Given the description of an element on the screen output the (x, y) to click on. 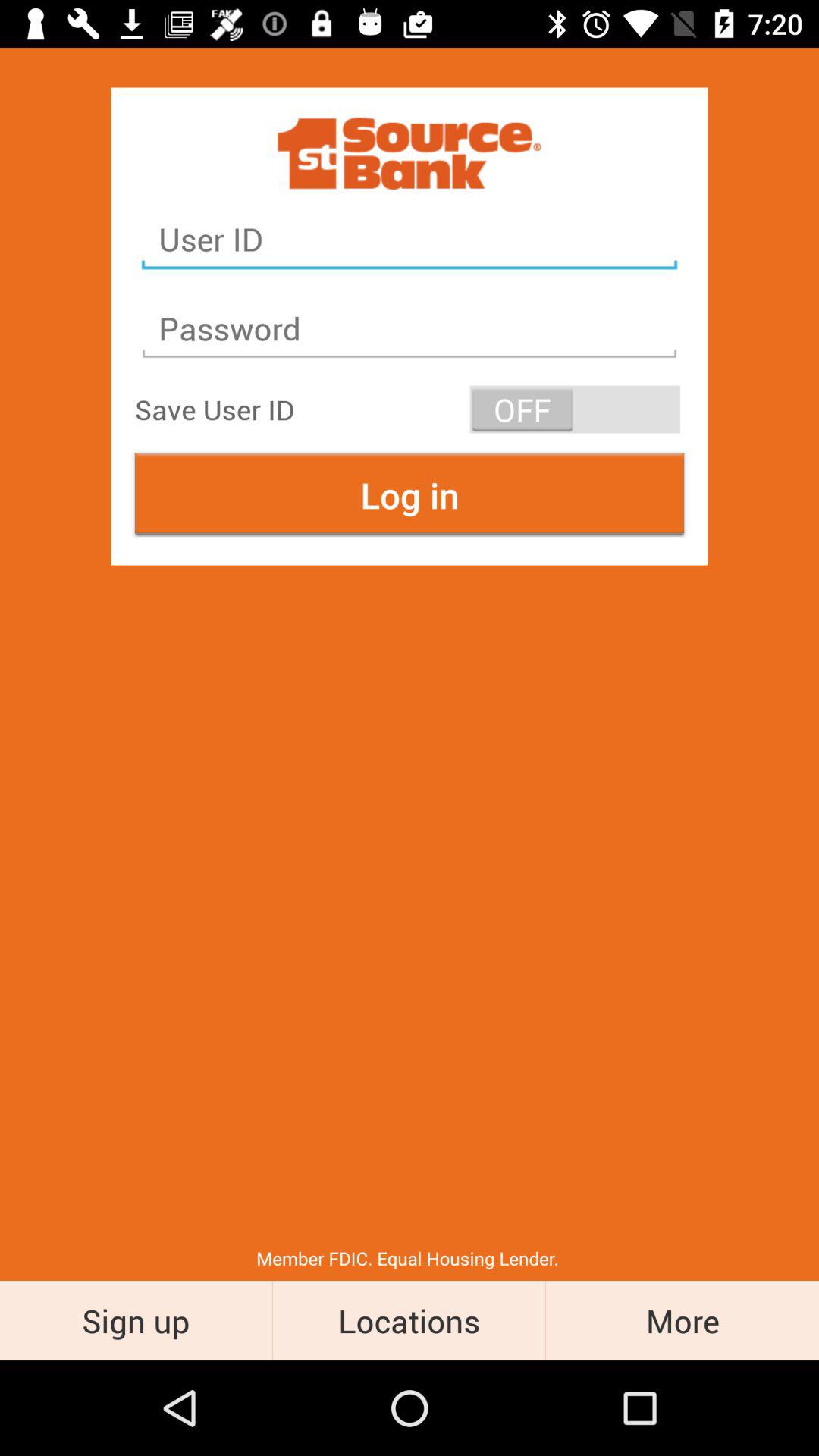
click the item to the right of save user id item (574, 409)
